Given the description of an element on the screen output the (x, y) to click on. 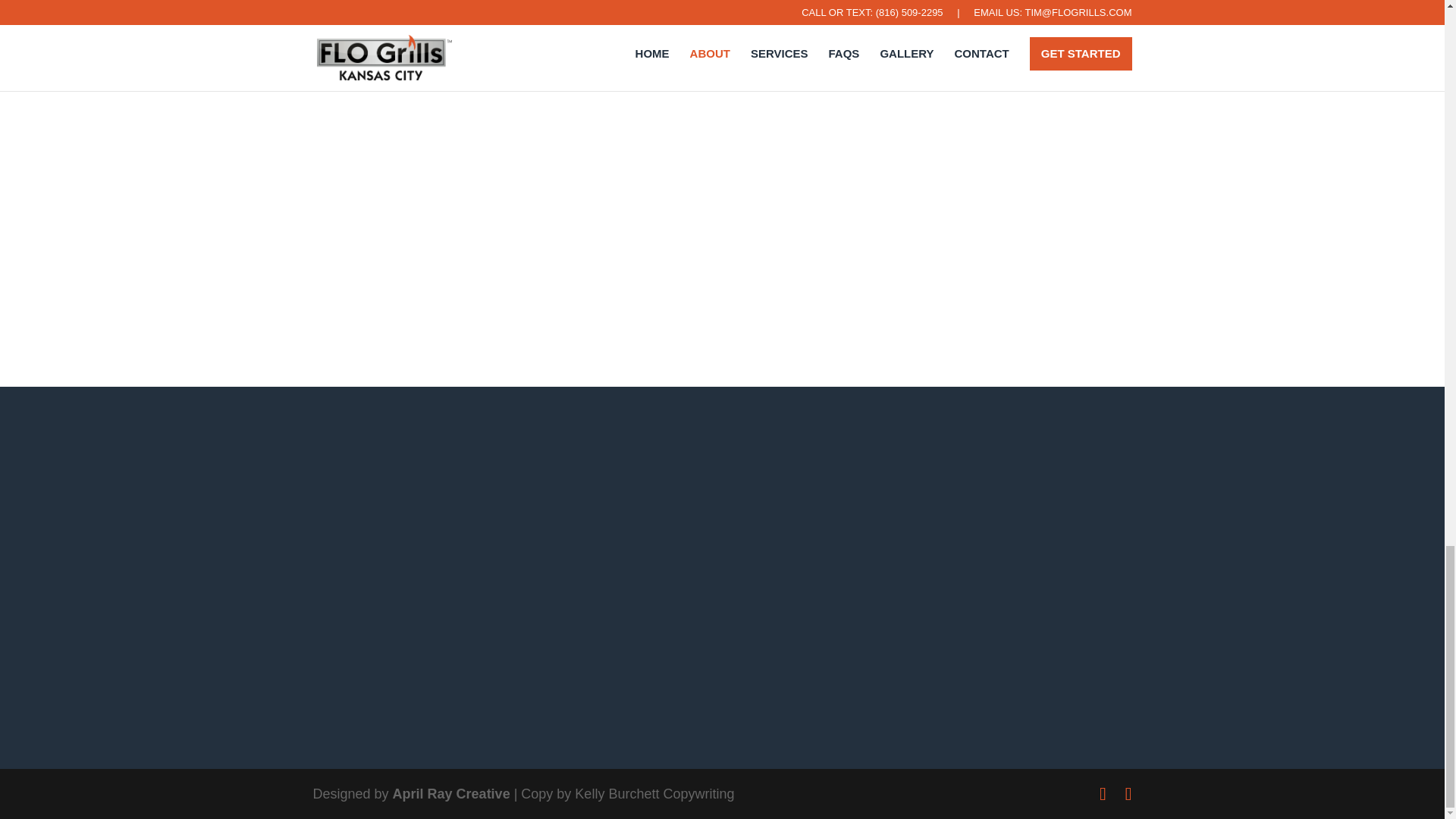
April Ray Creative (452, 793)
